Given the description of an element on the screen output the (x, y) to click on. 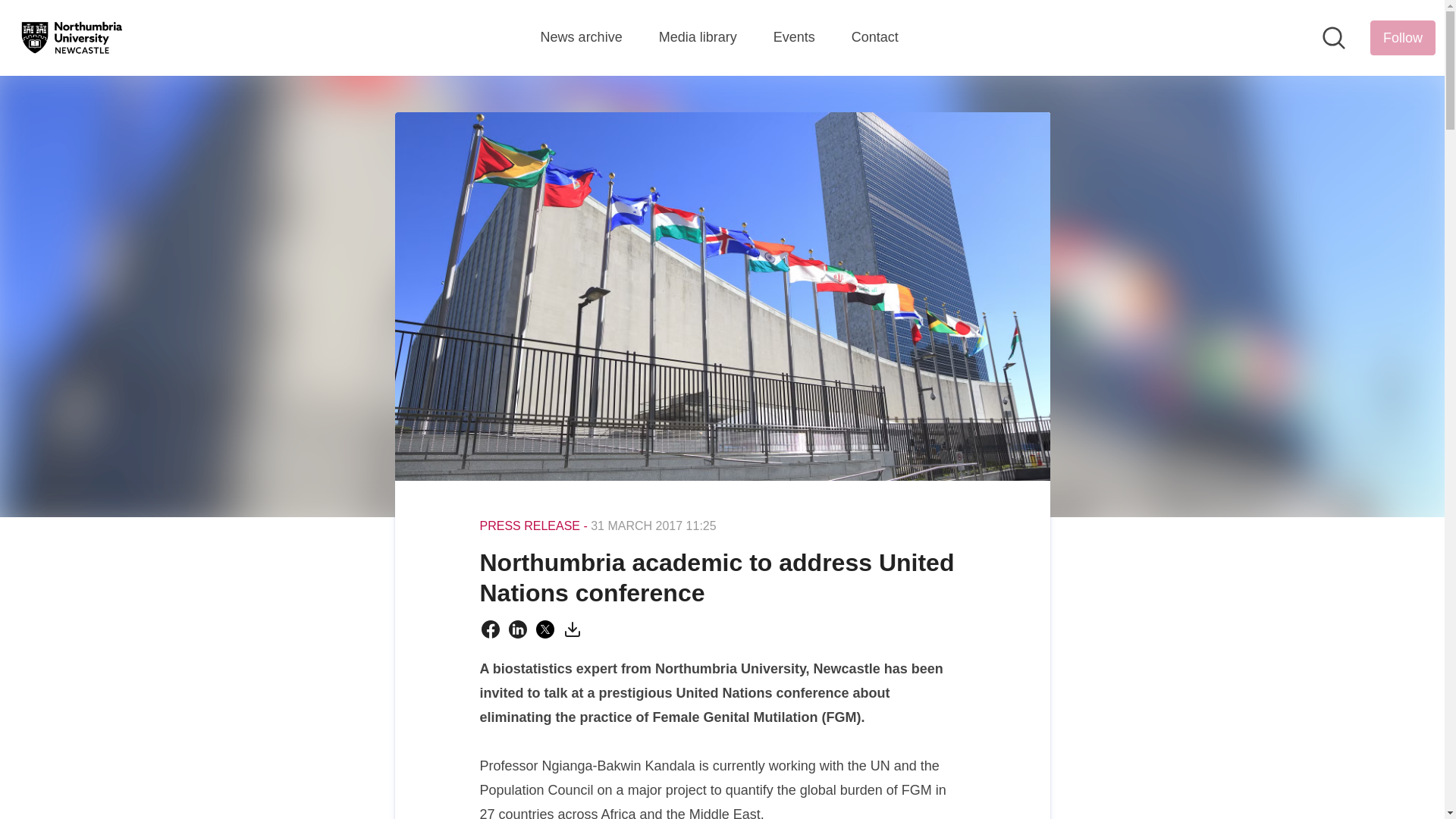
Search in newsroom (1333, 37)
Share on Twitter (544, 628)
Contact (874, 37)
Media library (697, 37)
Download as PDF (571, 628)
Events (794, 37)
News archive (581, 37)
Follow (1402, 37)
Share on Linkedin (516, 628)
Share on Facebook (489, 628)
